Given the description of an element on the screen output the (x, y) to click on. 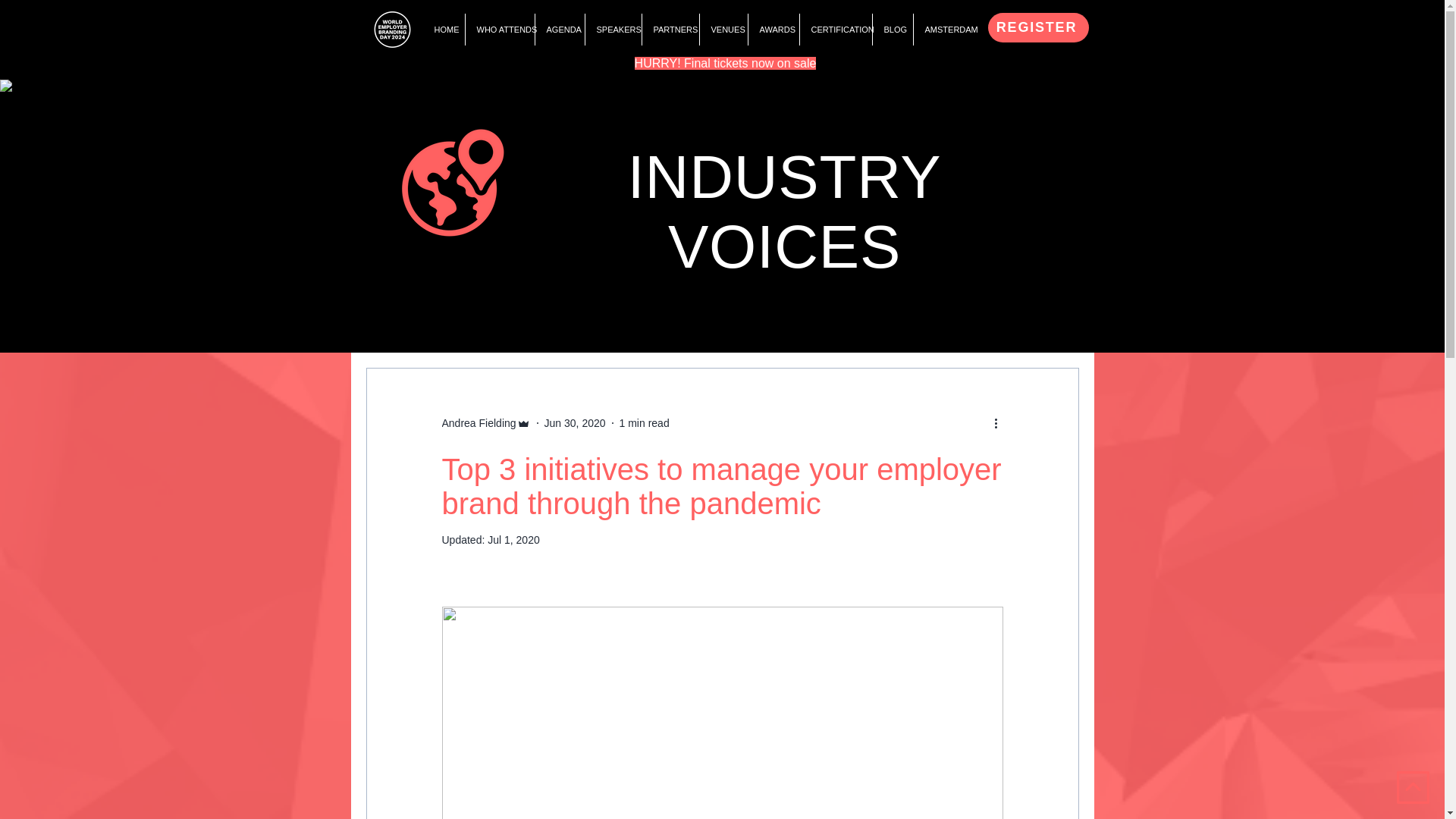
Jul 1, 2020 (513, 539)
PARTNERS (670, 29)
WHO ATTENDS (499, 29)
HOME (443, 29)
VENUES (723, 29)
AGENDA (558, 29)
REGISTER (1037, 27)
Andrea Fielding (478, 423)
Jun 30, 2020 (574, 422)
AMSTERDAM (945, 29)
